Given the description of an element on the screen output the (x, y) to click on. 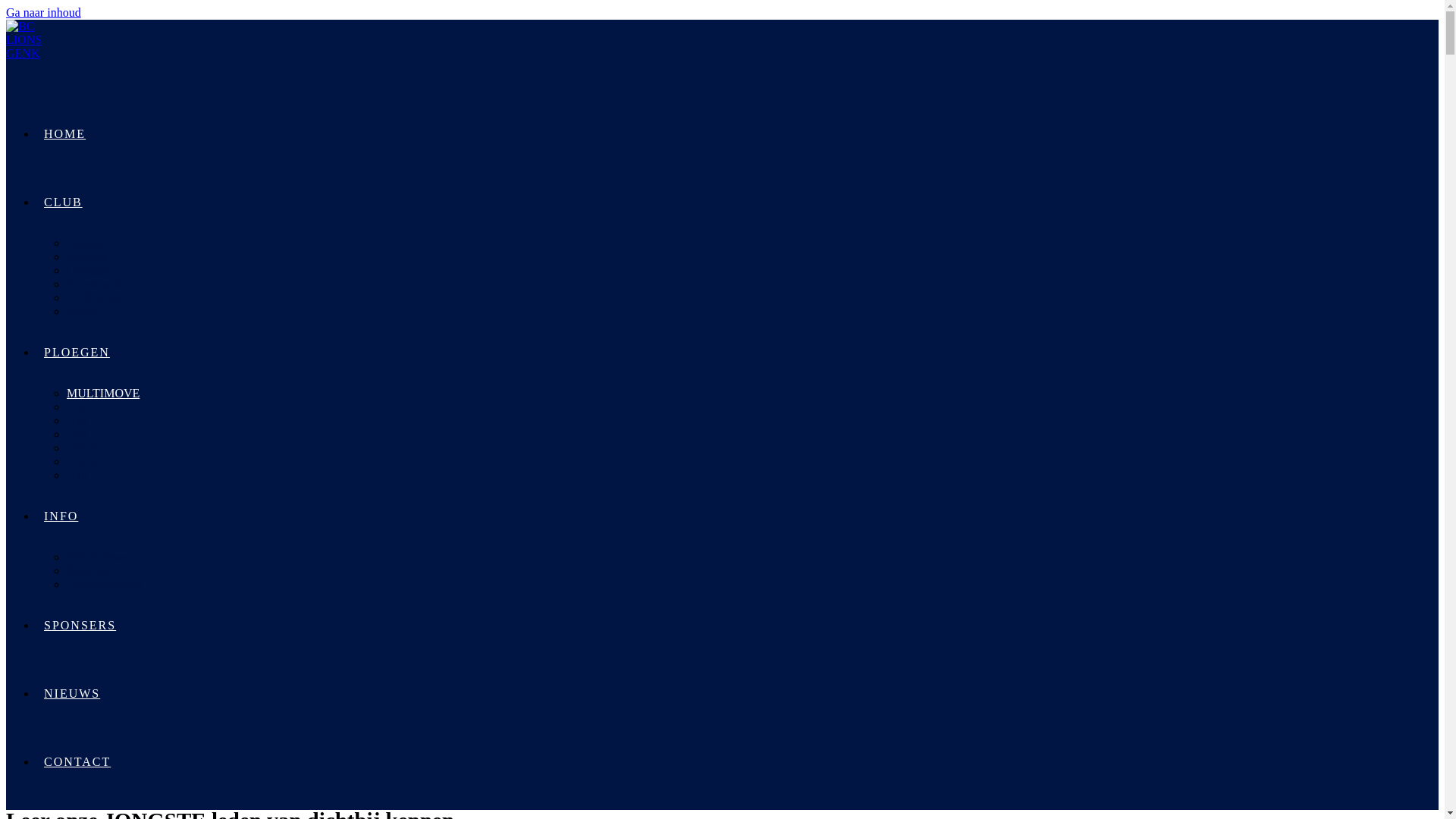
NIEUWS Element type: text (71, 693)
Officials Element type: text (87, 269)
MULTIMOVE Element type: text (102, 392)
Ga naar inhoud Element type: text (43, 12)
U16 B Element type: text (82, 461)
FEST-visie Element type: text (93, 297)
U18 Element type: text (76, 474)
U12 Element type: text (76, 420)
INFO Element type: text (60, 515)
PLOEGEN Element type: text (76, 351)
CLUB Element type: text (63, 201)
HOME Element type: text (64, 133)
CONTACT Element type: text (77, 761)
U16 A Element type: text (82, 447)
Kernwaarde Element type: text (95, 283)
Initiatielessen Element type: text (100, 556)
Bestuur Element type: text (85, 242)
Regels Element type: text (83, 310)
U14 Element type: text (76, 433)
Trainingsdagen Element type: text (103, 583)
U10 Element type: text (76, 406)
SPONSERS Element type: text (79, 624)
Coaches Element type: text (86, 256)
Sporthal Element type: text (86, 570)
